Given the description of an element on the screen output the (x, y) to click on. 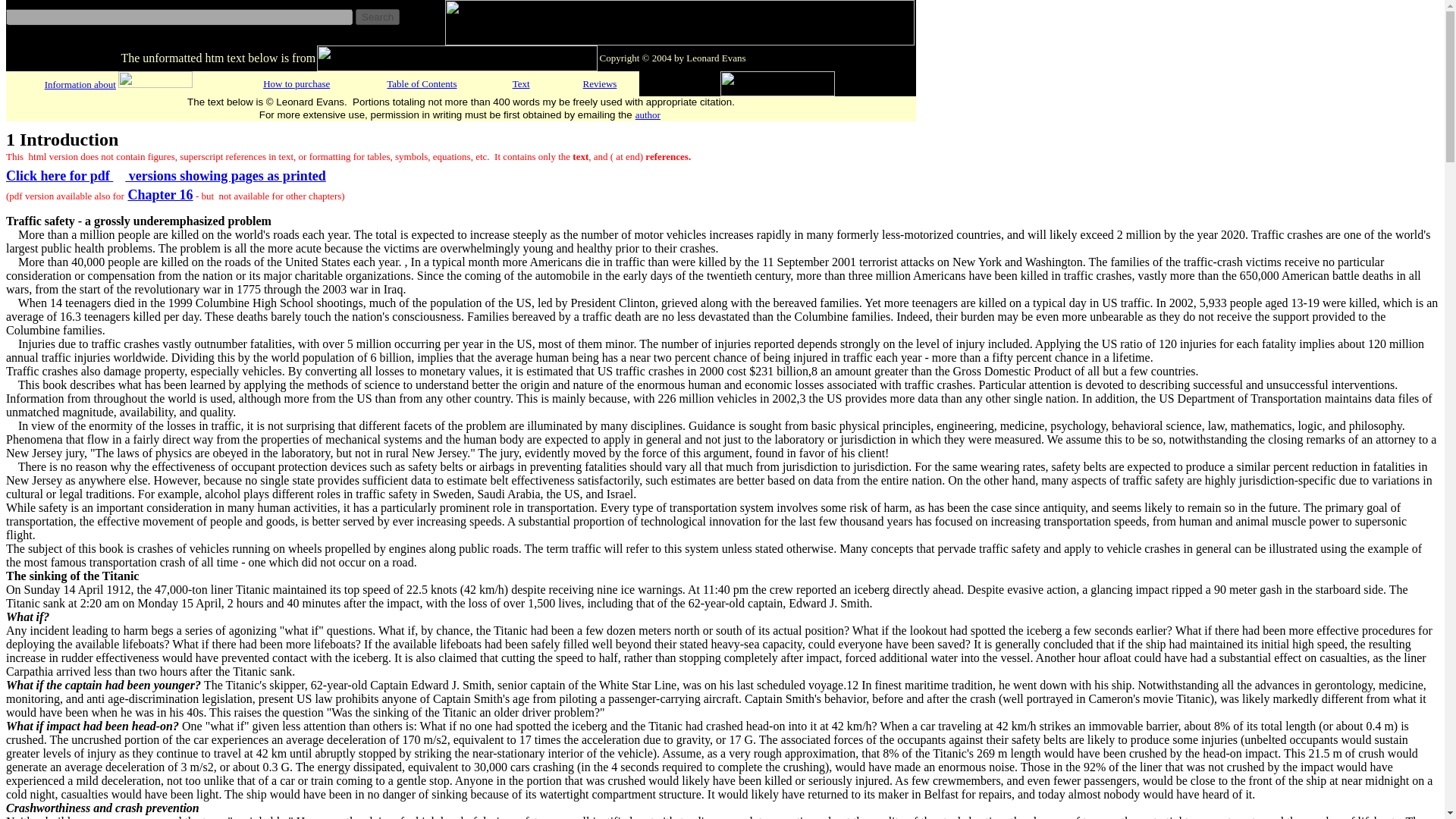
Reviews (600, 82)
Chapter 16 (160, 194)
Search (376, 17)
Search (376, 17)
Text (520, 82)
Information about (80, 83)
Table of Contents (422, 82)
author (647, 114)
Click here for pdf versions showing pages as printed (165, 175)
How to purchase (296, 82)
